Given the description of an element on the screen output the (x, y) to click on. 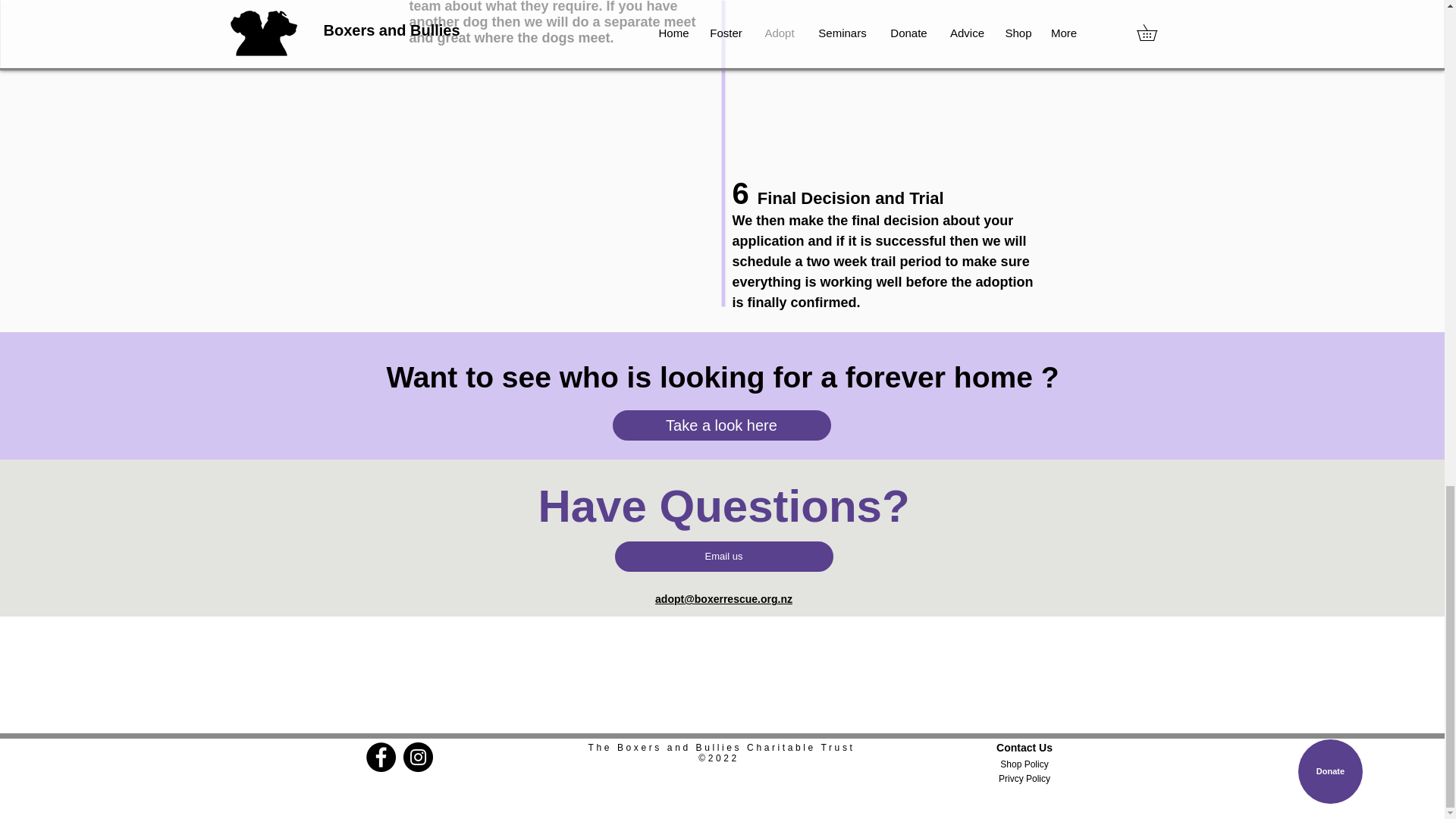
Email us (723, 556)
Shop Policy (1024, 764)
Take a look here (721, 425)
Privcy Policy (1024, 778)
Contact Us (1024, 748)
